Given the description of an element on the screen output the (x, y) to click on. 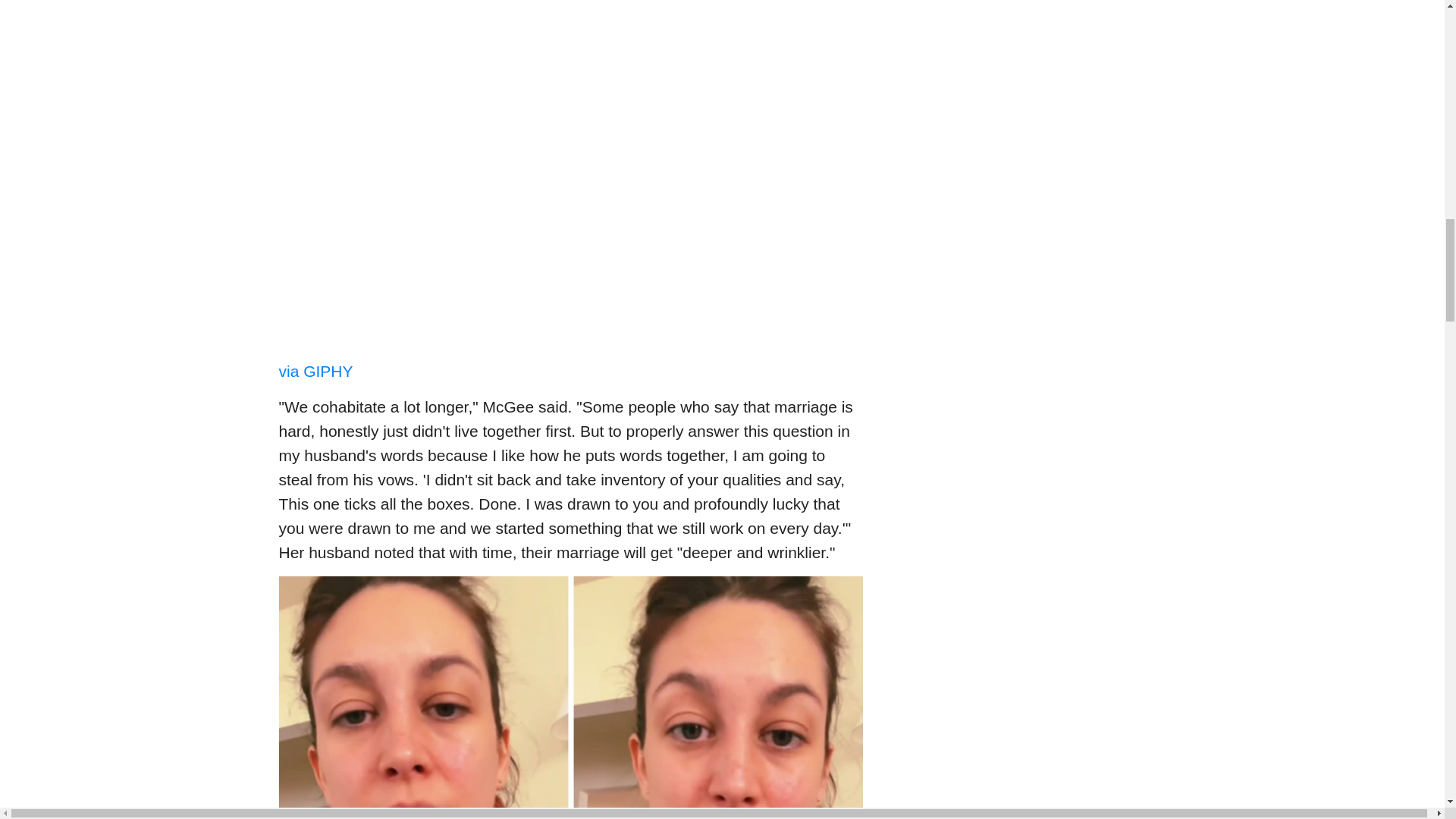
via GIPHY (316, 371)
